Given the description of an element on the screen output the (x, y) to click on. 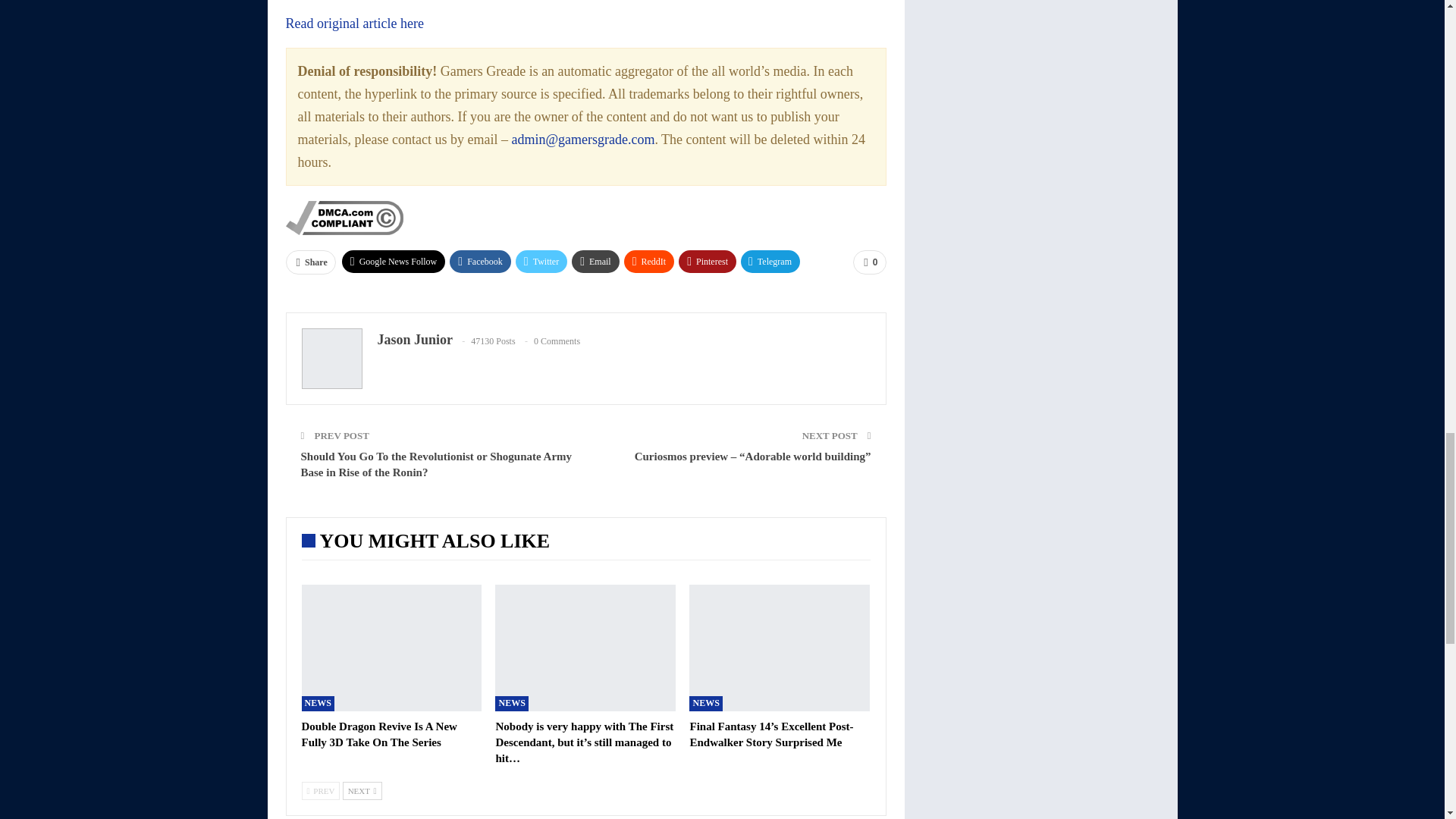
DMCA Compliance information for gamersgrade.com (344, 216)
Double Dragon Revive Is A New Fully 3D Take On The Series (379, 734)
Double Dragon Revive Is A New Fully 3D Take On The Series (391, 647)
